Given the description of an element on the screen output the (x, y) to click on. 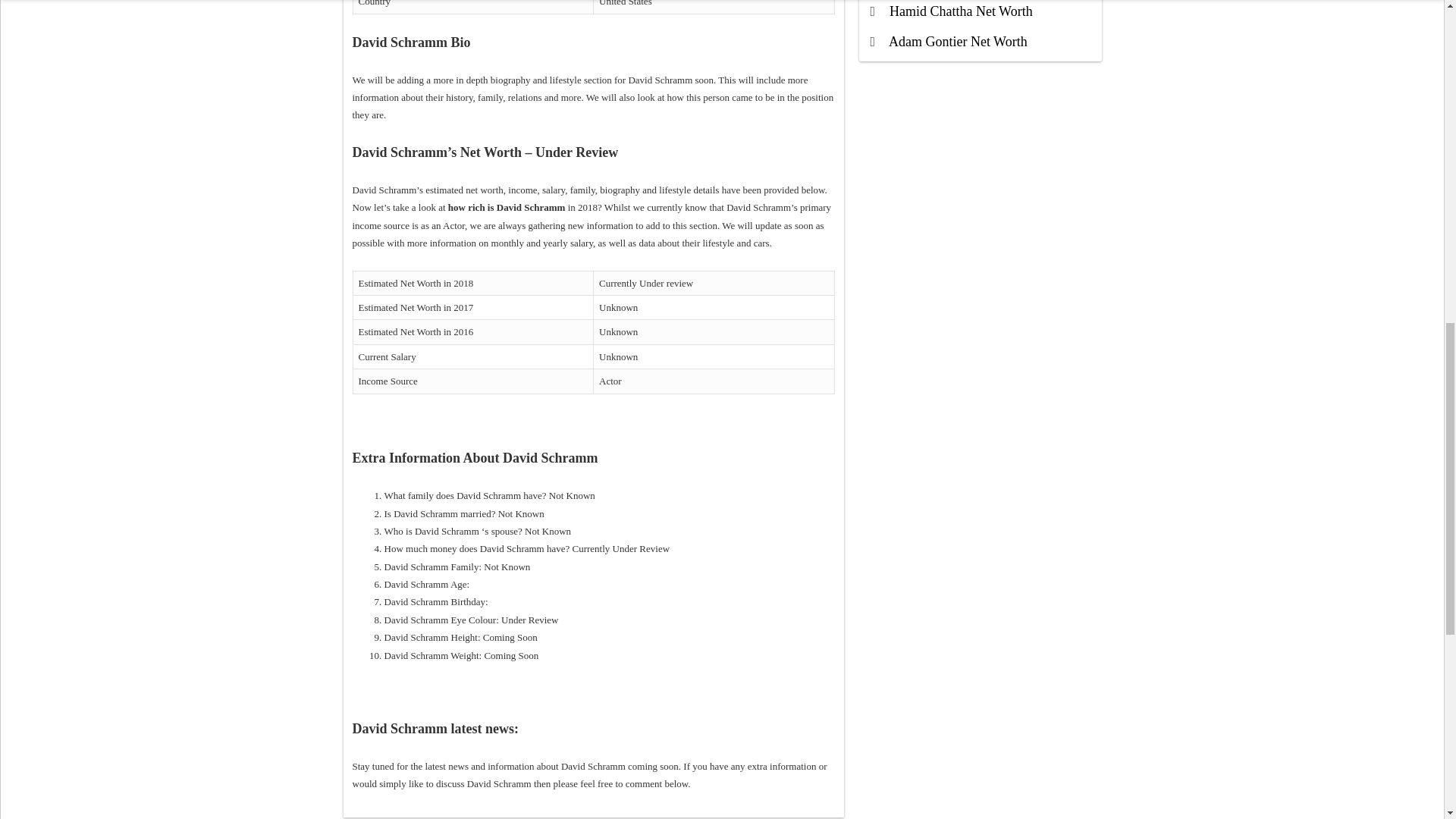
Adam Gontier Net Worth (957, 41)
Hamid Chattha Net Worth (960, 11)
